Given the description of an element on the screen output the (x, y) to click on. 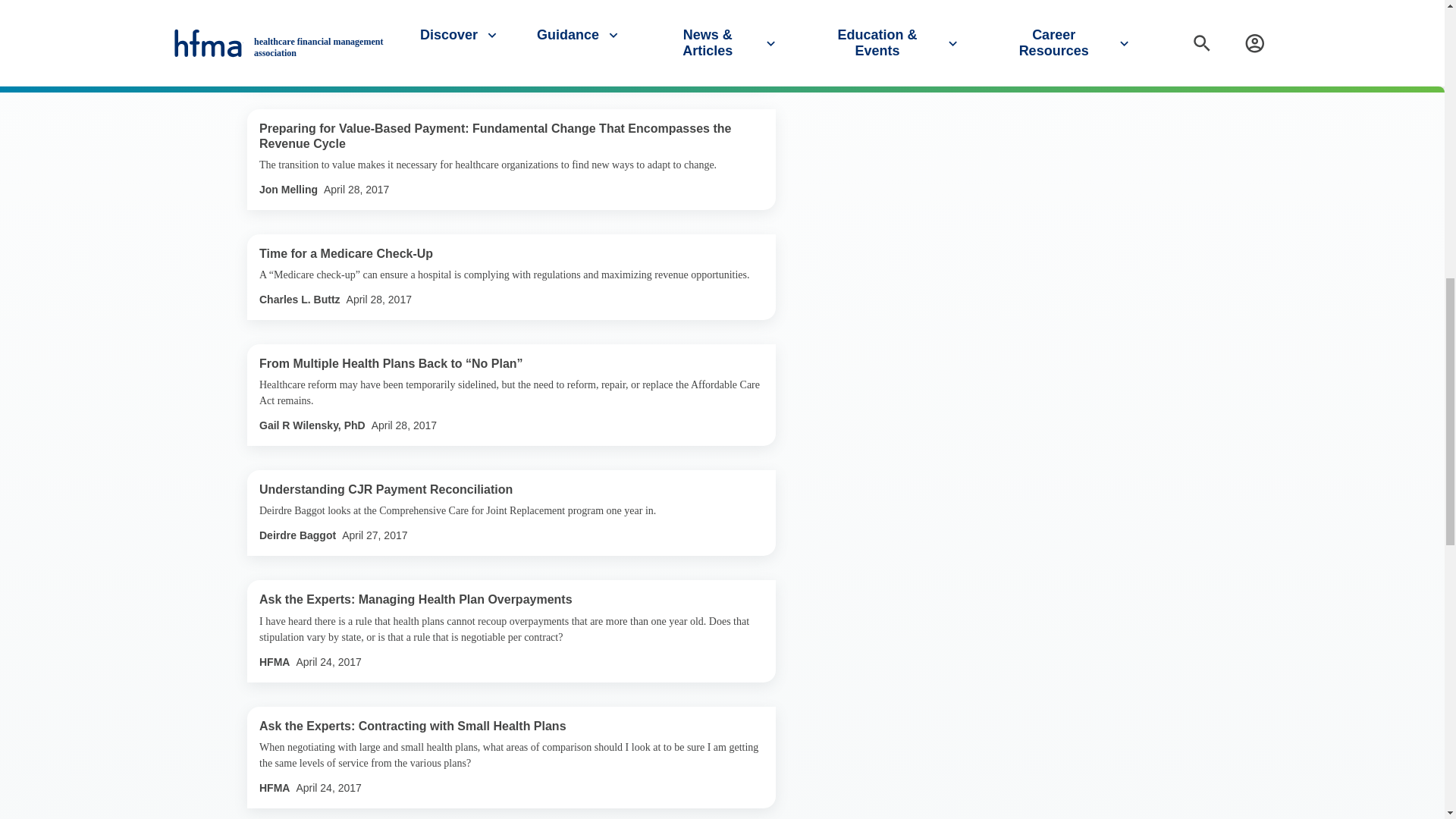
3rd party ad content (961, 7)
3rd party ad content (961, 125)
